Given the description of an element on the screen output the (x, y) to click on. 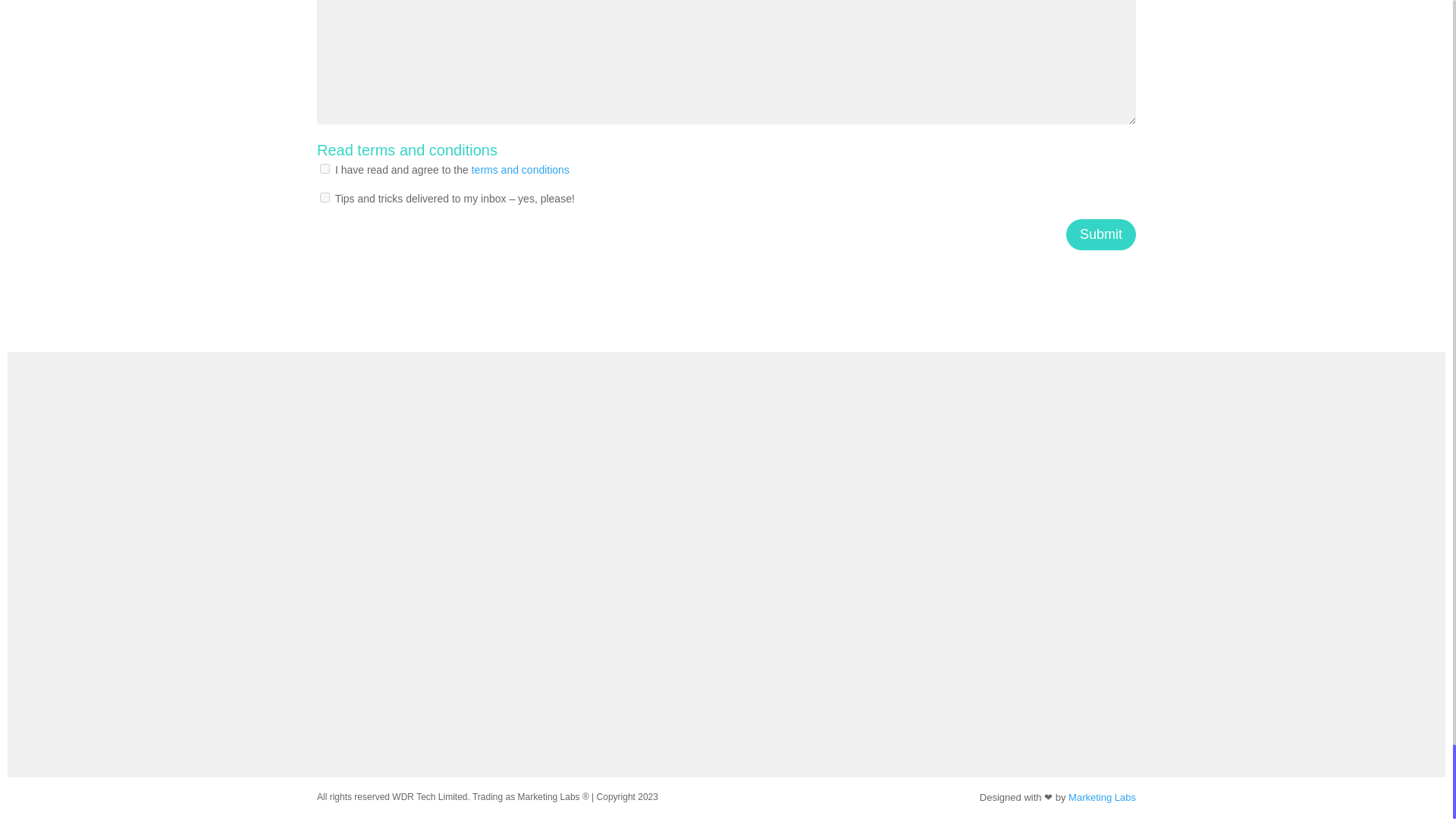
I have read and agree to the (325, 168)
Submit (1100, 234)
